Given the description of an element on the screen output the (x, y) to click on. 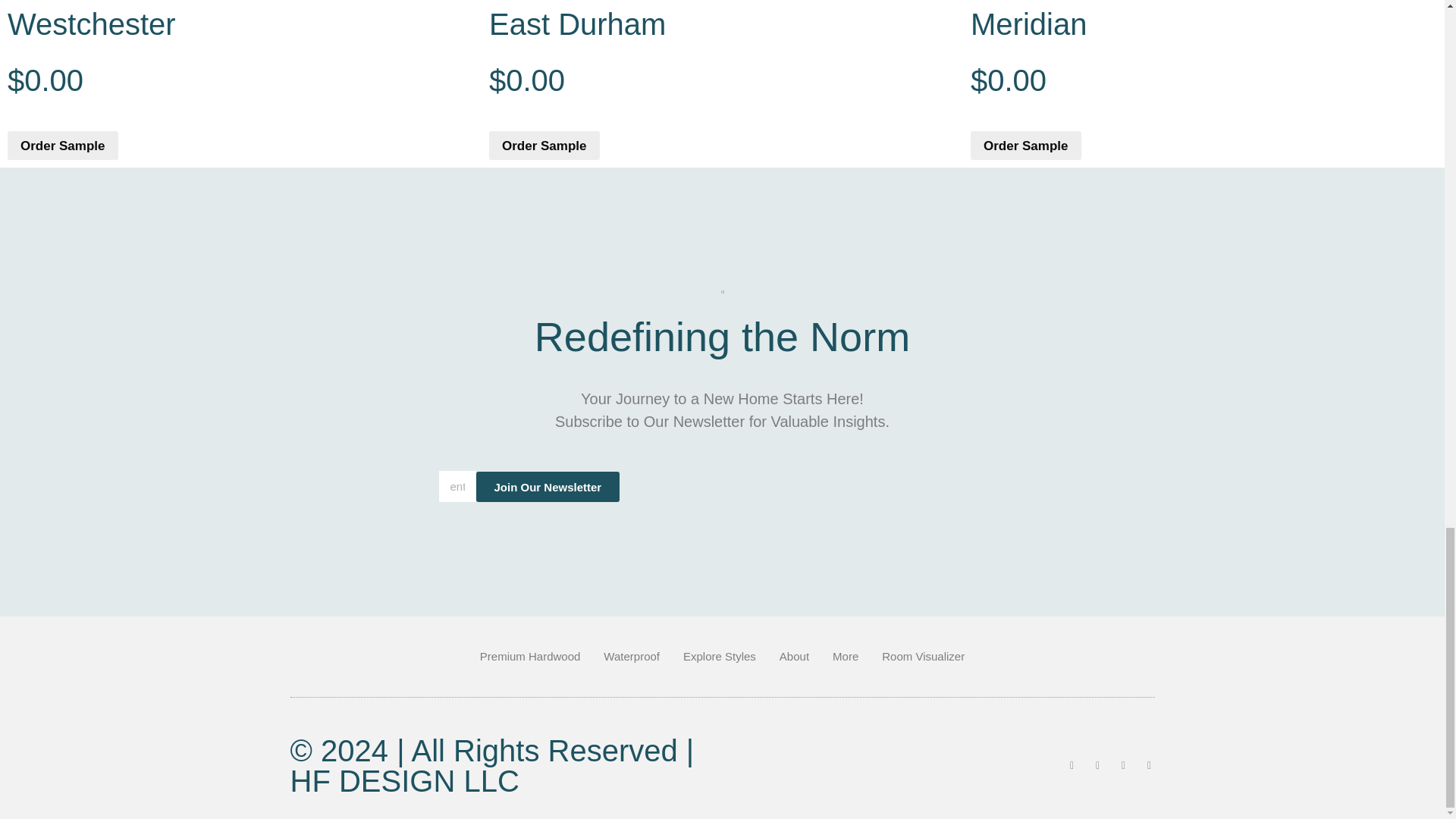
Order Sample (544, 145)
Order Sample (62, 145)
